Given the description of an element on the screen output the (x, y) to click on. 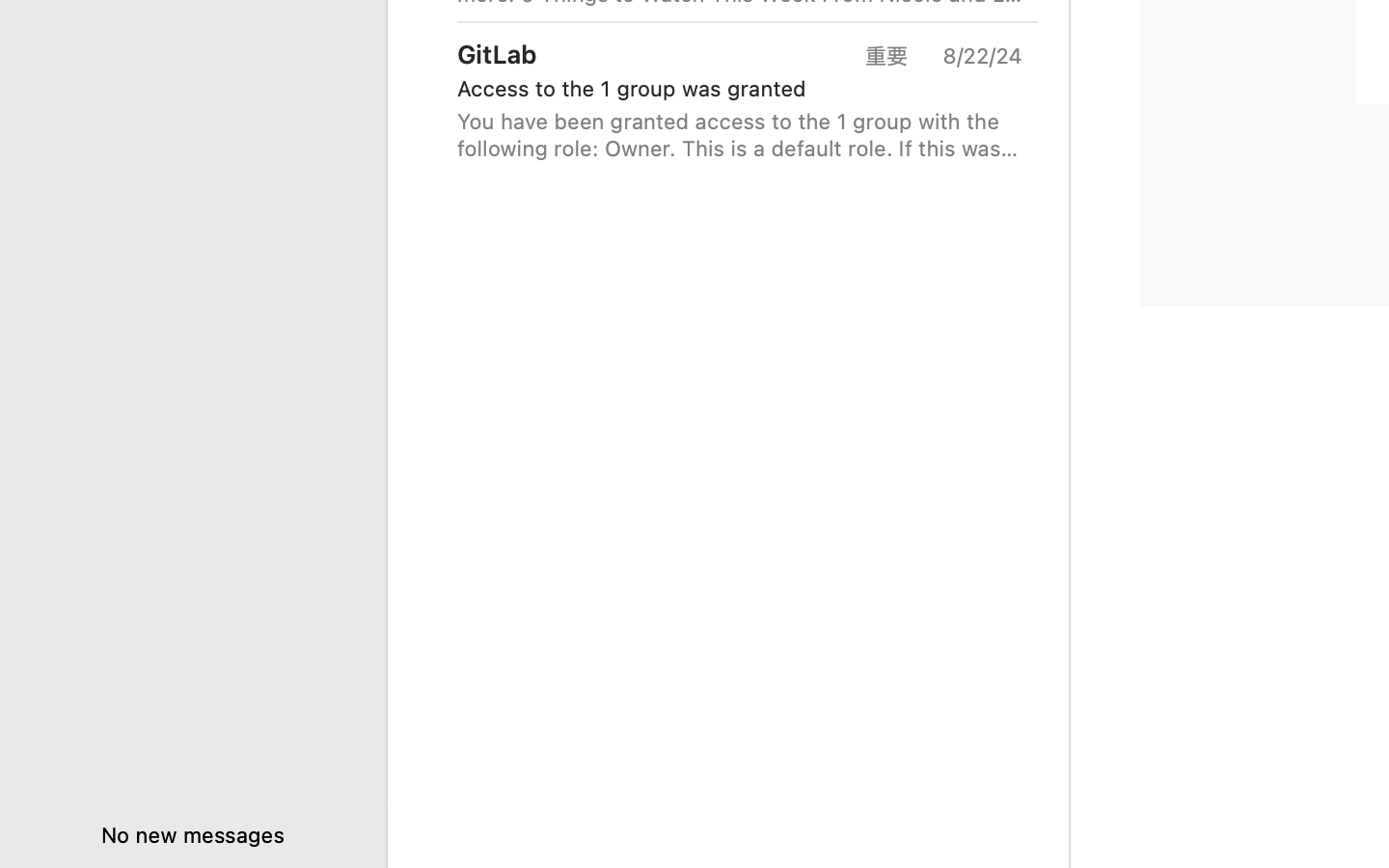
6 messages Element type: AXStaticText (677, 732)
GitLab Element type: AXStaticText (496, 53)
Access to the 1 group was granted Element type: AXStaticText (731, 88)
8/22/24 Element type: AXStaticText (980, 55)
You have been granted access to the 1 group with the following role: Owner. This is a default role. If this was a mistake you can leave the group. You're receiving this email because of your account on gitlab.com. Manage all notifications · Help Element type: AXStaticText (739, 135)
